Given the description of an element on the screen output the (x, y) to click on. 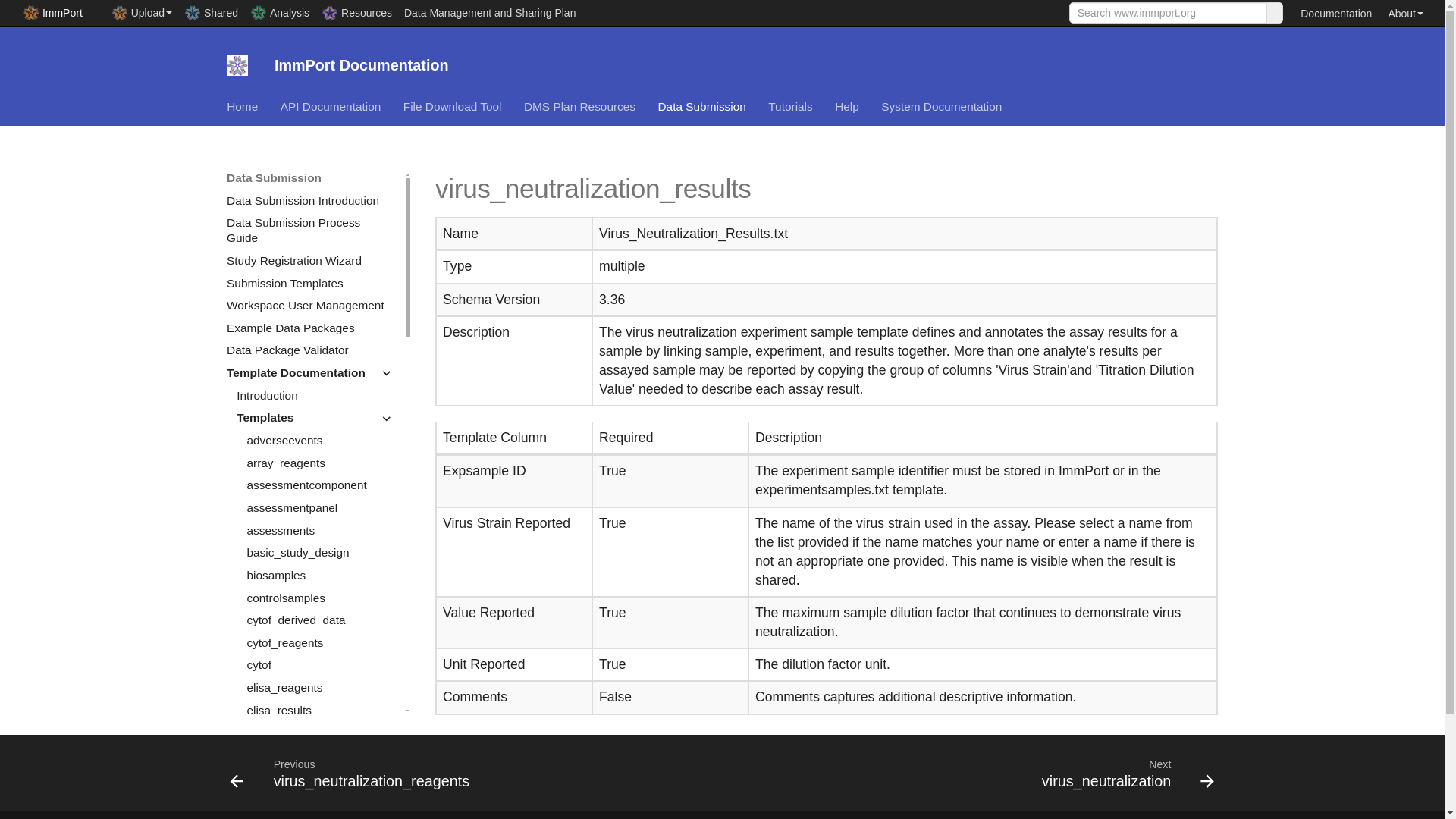
Upload (140, 12)
Shared (210, 12)
ImmPort Documentation (236, 64)
Tutorials (790, 105)
ImmPort (52, 12)
Help (846, 105)
Data Submission (701, 105)
Resources (356, 12)
API Documentation (331, 105)
Analysis (279, 12)
DMS Plan Resources (579, 105)
System Documentation (940, 105)
Home (242, 105)
Data Management and Sharing Plan (488, 10)
File Download Tool (452, 105)
